Given the description of an element on the screen output the (x, y) to click on. 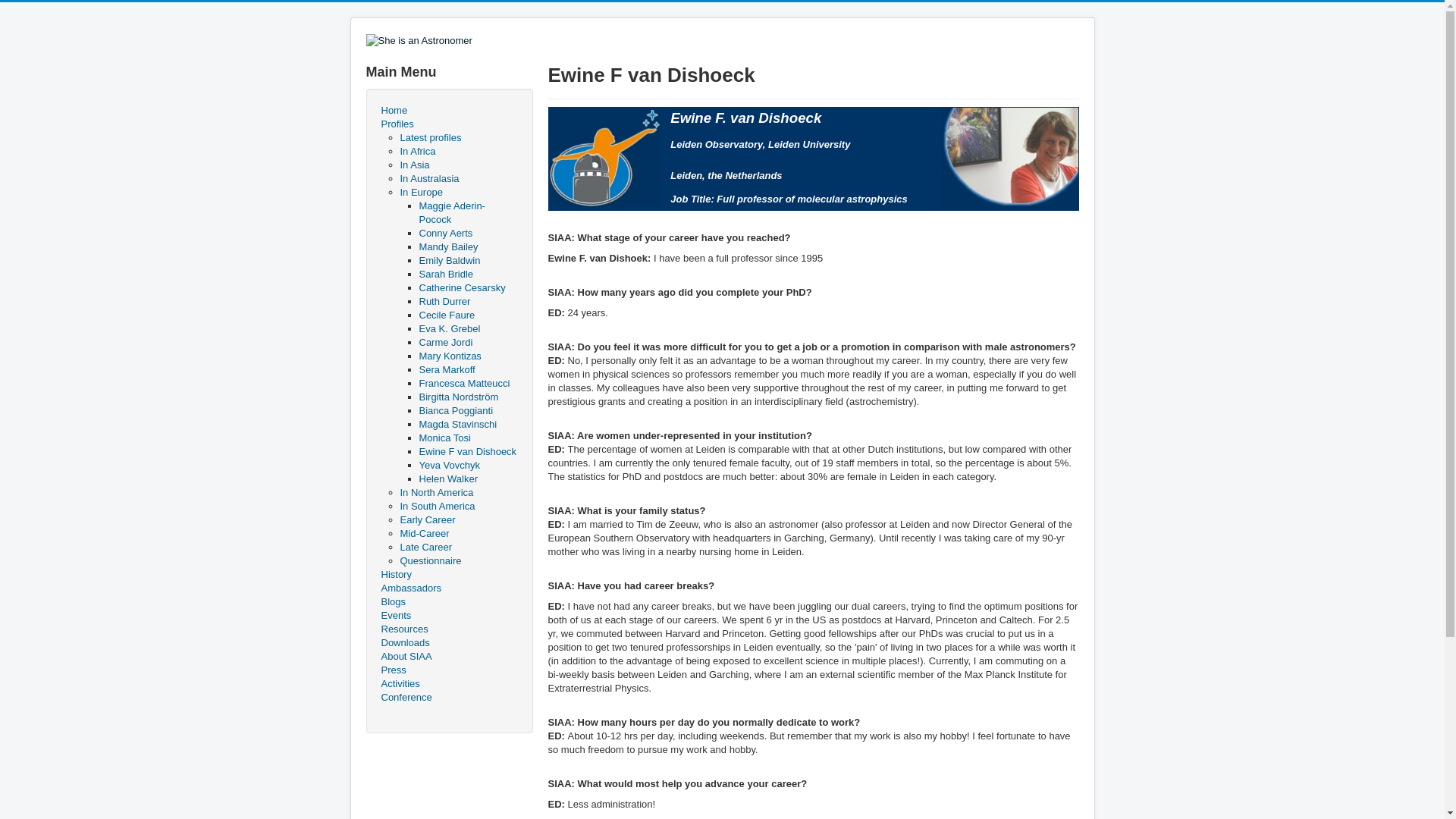
Blogs (448, 602)
In Australasia (430, 178)
Catherine Cesarsky (462, 287)
Mid-Career (424, 532)
Cecile Faure (446, 315)
Carme Jordi (445, 342)
Late Career (426, 546)
Francesca Matteucci (464, 383)
Maggie Aderin-Pocock (451, 212)
Latest profiles (430, 137)
Eva K. Grebel (449, 328)
Questionnaire (430, 560)
Mandy Bailey (448, 246)
In Europe (421, 192)
Home (448, 110)
